Given the description of an element on the screen output the (x, y) to click on. 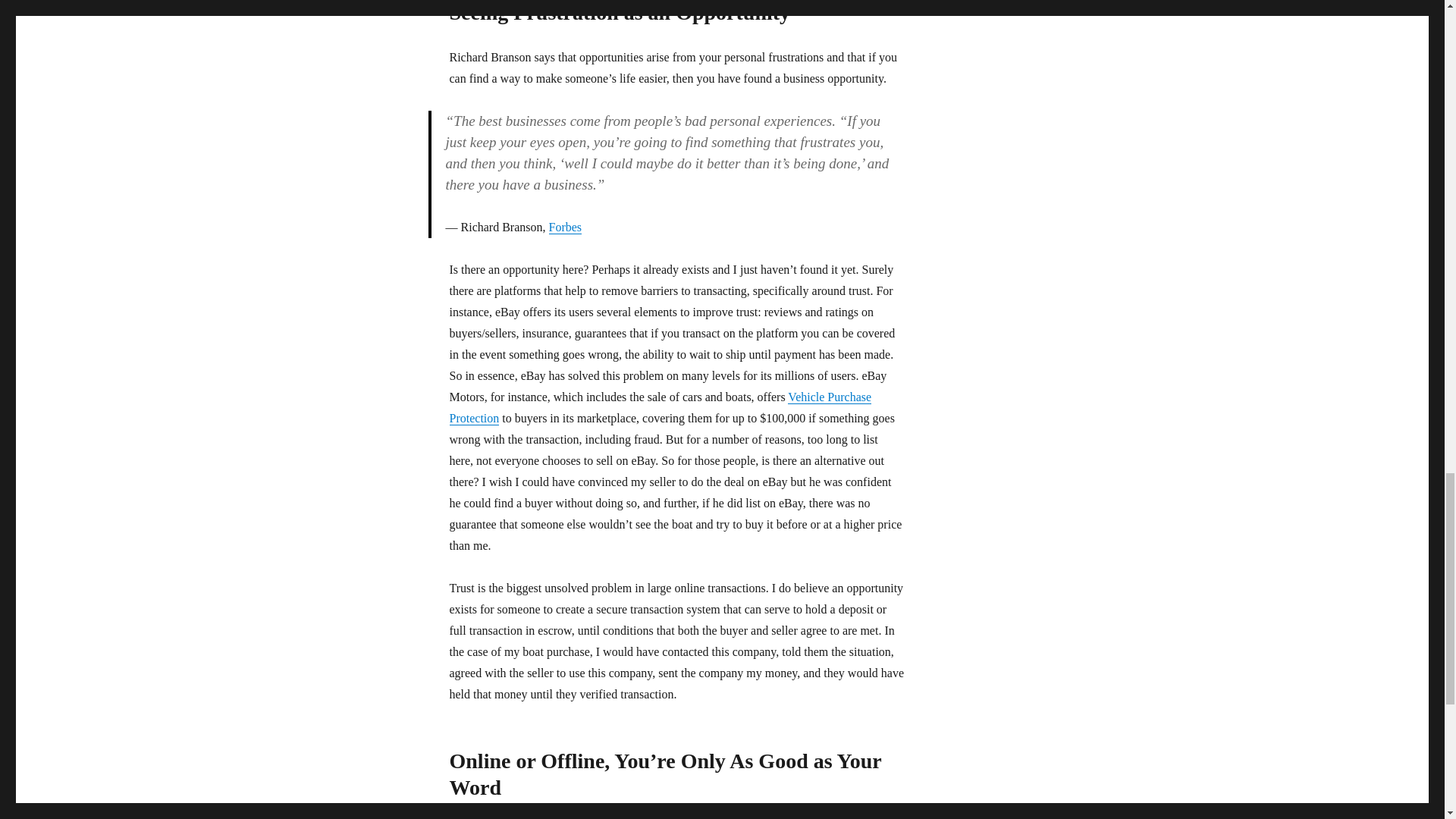
Vehicle Purchase Protection (659, 407)
Forbes (565, 226)
